Given the description of an element on the screen output the (x, y) to click on. 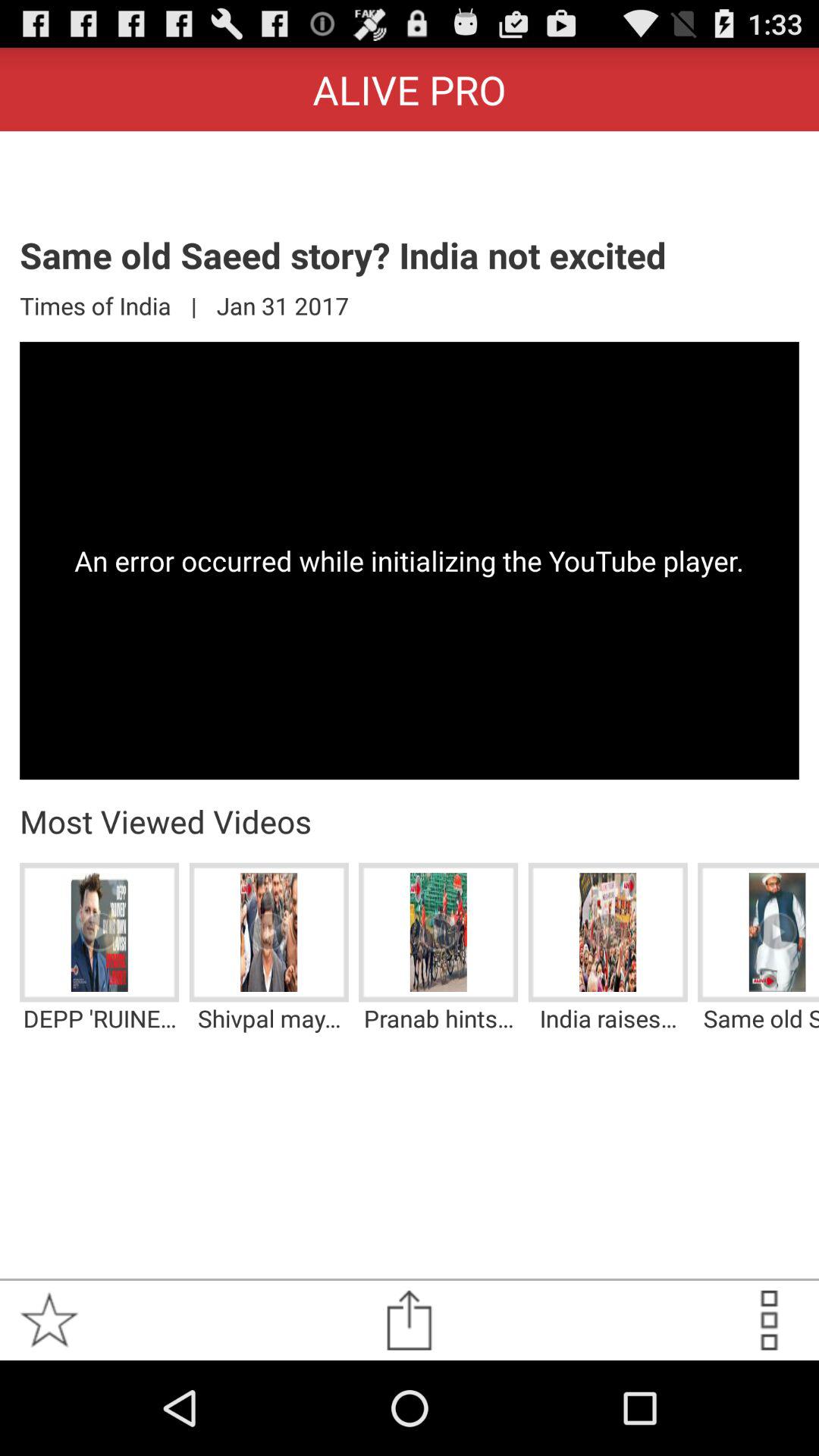
favorite story (49, 1320)
